Given the description of an element on the screen output the (x, y) to click on. 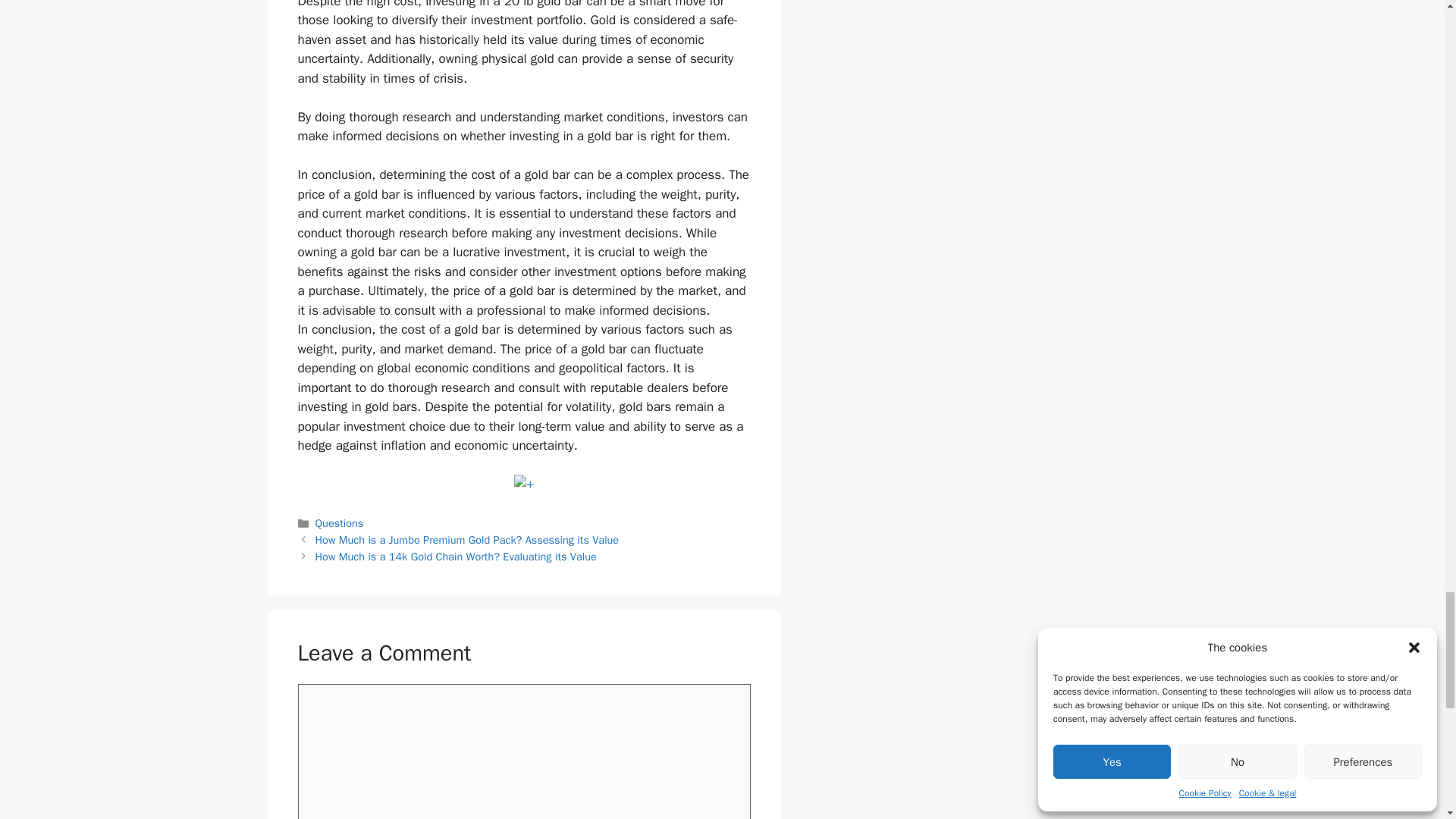
Questions (339, 522)
How Much is a Jumbo Premium Gold Pack? Assessing its Value (467, 540)
How Much is a 14k Gold Chain Worth? Evaluating its Value (455, 556)
